Given the description of an element on the screen output the (x, y) to click on. 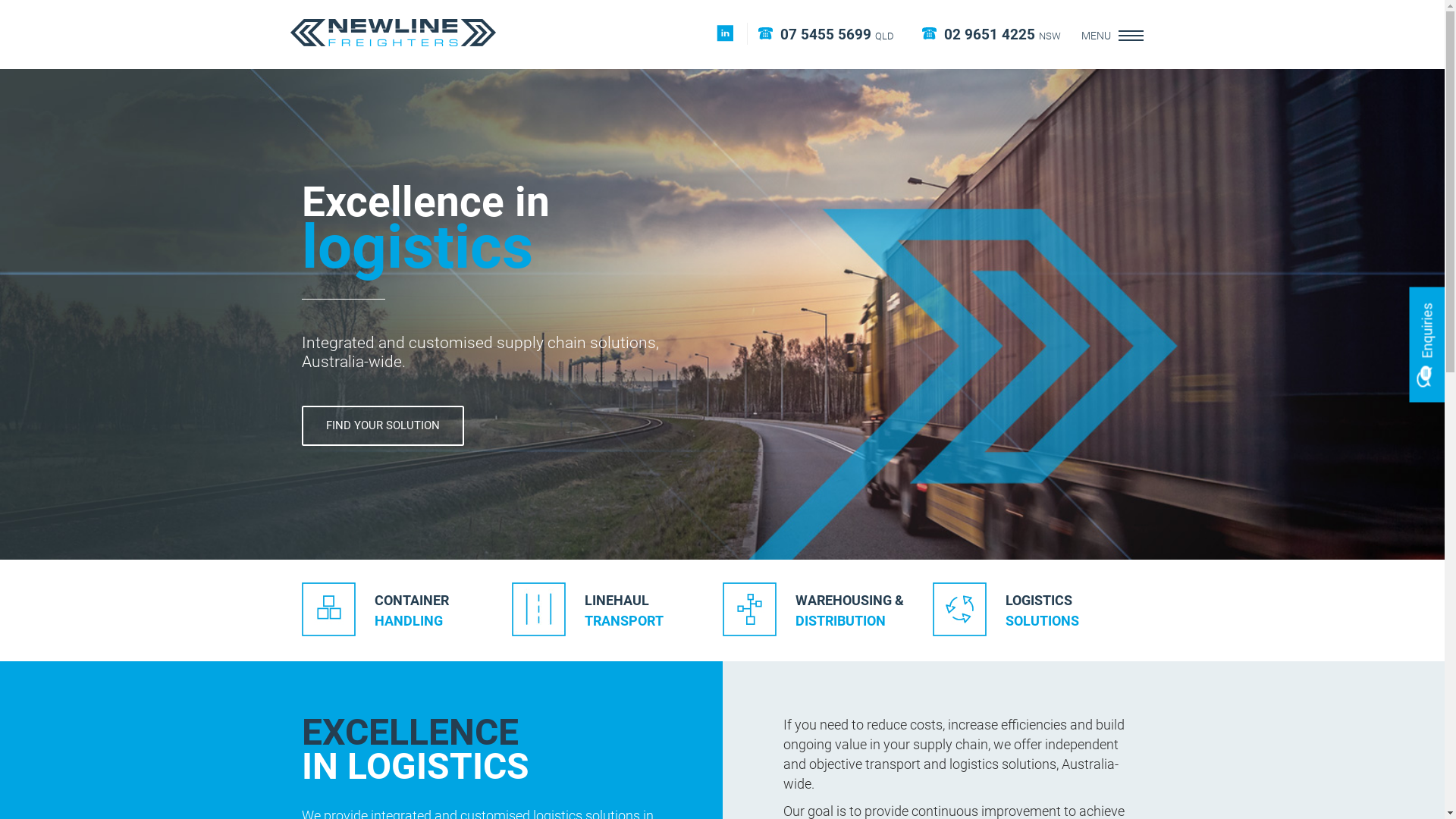
LOGISTICS
SOLUTIONS Element type: text (1037, 609)
02 9651 4225 Element type: text (988, 34)
FIND YOUR SOLUTION Element type: text (382, 425)
07 5455 5699 Element type: text (824, 34)
LINEHAUL
TRANSPORT Element type: text (616, 609)
WAREHOUSING &
DISTRIBUTION Element type: text (826, 609)
CONTAINER
HANDLING Element type: text (406, 609)
Submit Element type: text (1445, 650)
MENU Element type: text (1095, 35)
